Given the description of an element on the screen output the (x, y) to click on. 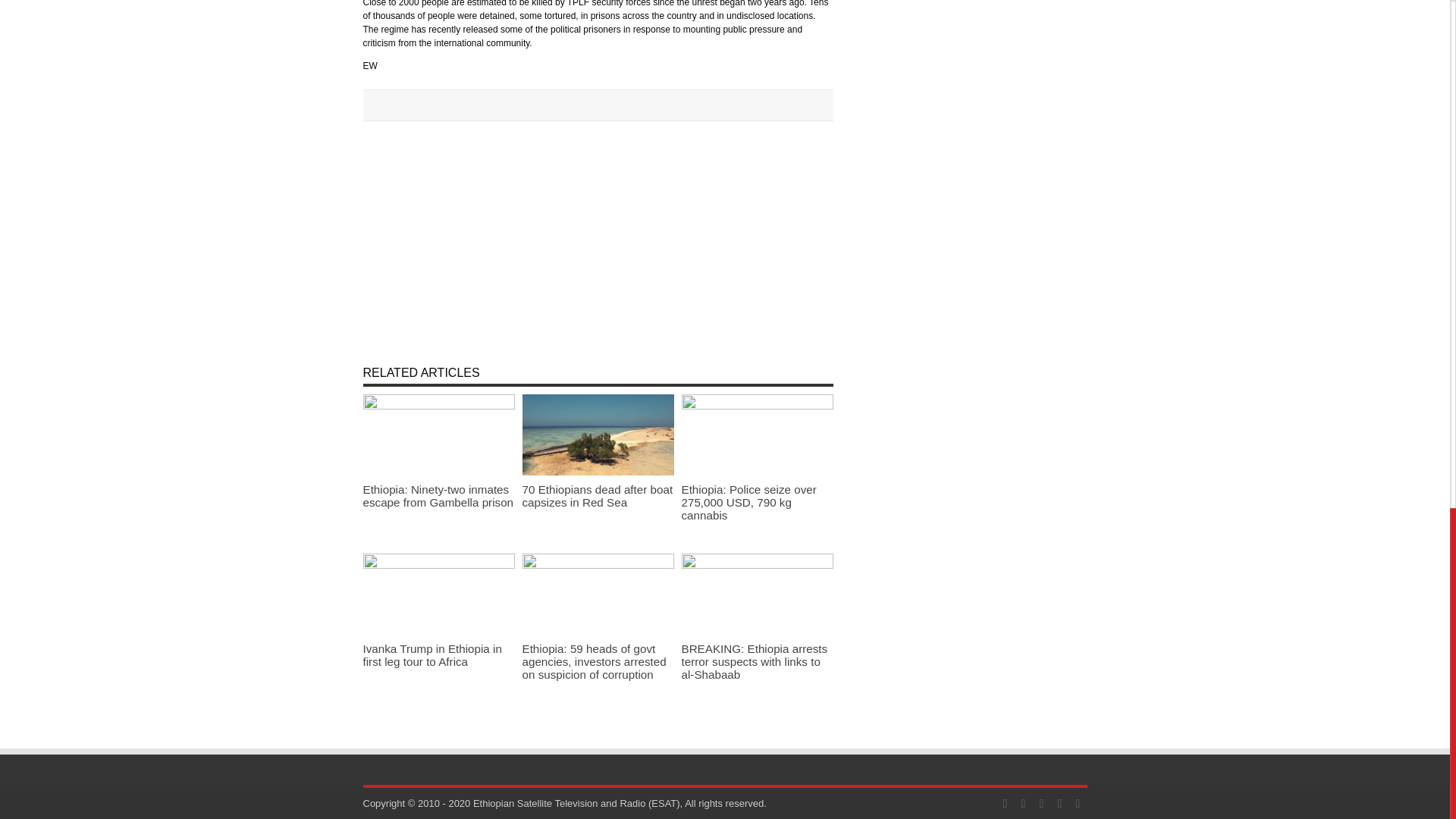
Ethiopia: Ninety-two inmates escape from Gambella prison (437, 495)
